Given the description of an element on the screen output the (x, y) to click on. 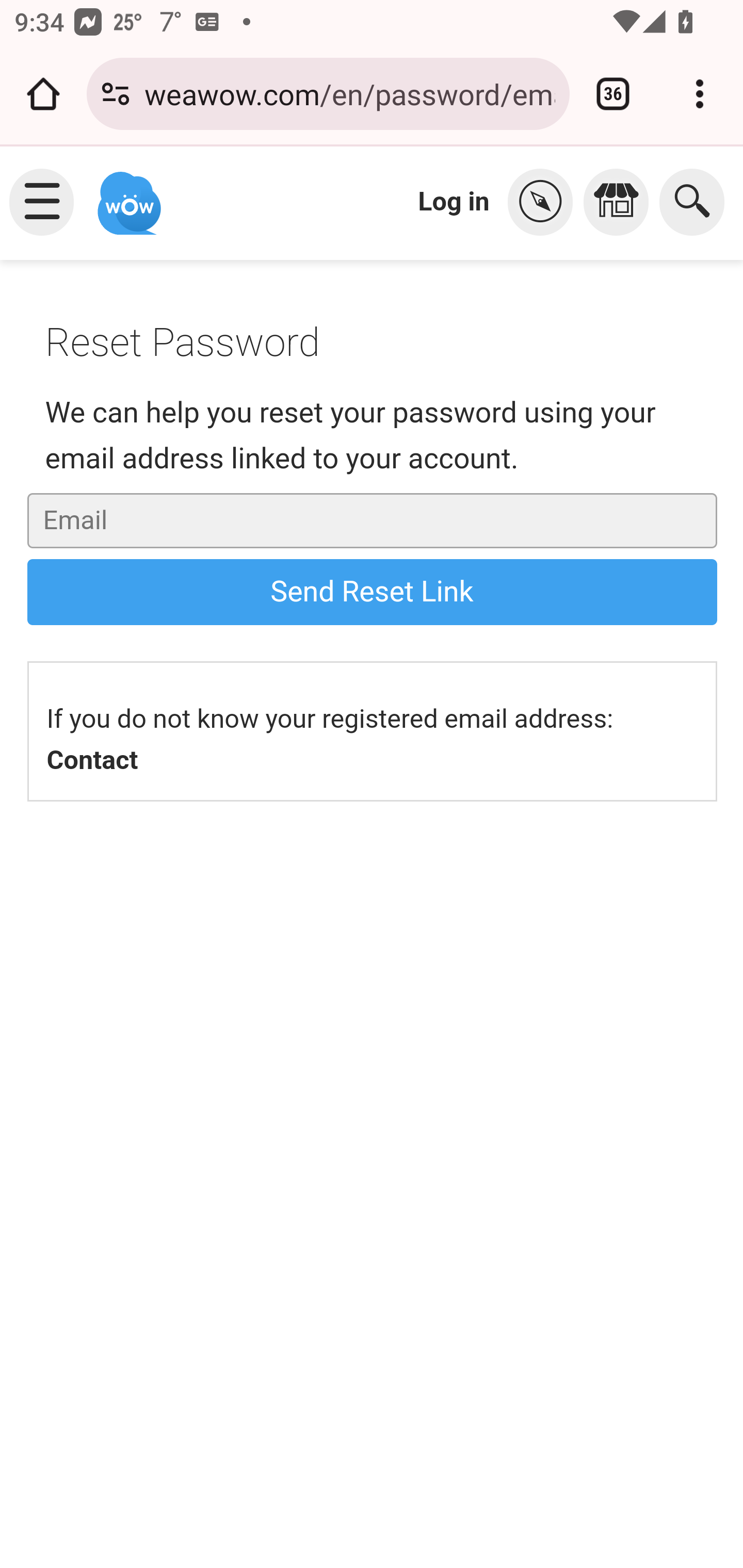
Open the home page (43, 93)
Connection is secure (115, 93)
Switch or close tabs (612, 93)
Customize and control Google Chrome (699, 93)
weawow.com/en/password/email (349, 92)
Weawow (127, 194)
 (545, 201)
 (621, 201)
Log in (453, 201)
Send Reset Link (371, 591)
Contact (91, 760)
